Given the description of an element on the screen output the (x, y) to click on. 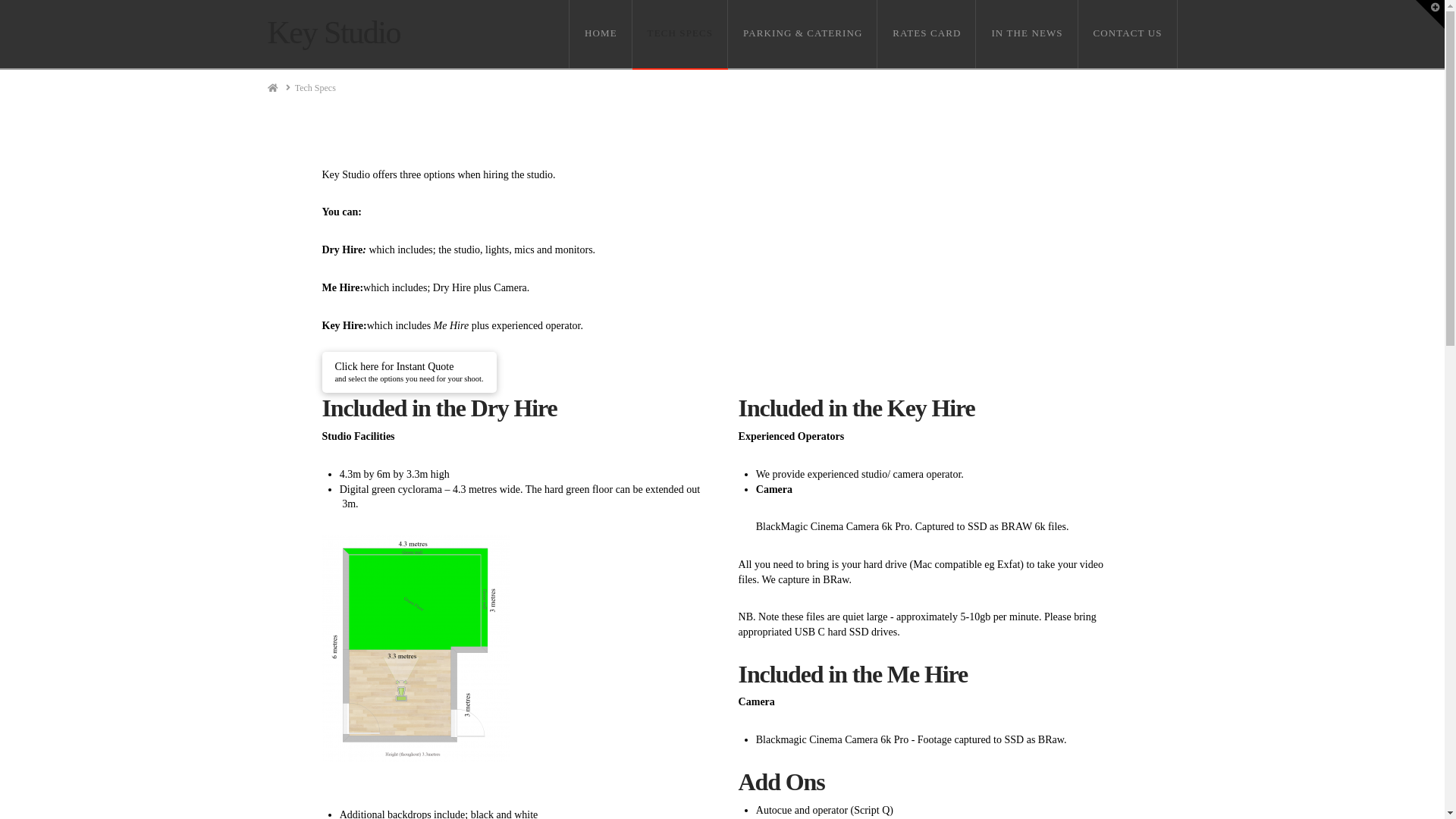
TECH SPECS Element type: text (680, 34)
RATES CARD Element type: text (926, 34)
Home Element type: text (271, 87)
IN THE NEWS Element type: text (1026, 34)
Toggle the Widgetbar Element type: text (1429, 14)
HOME Element type: text (600, 34)
Tech Specs Element type: text (314, 87)
Key Studio Element type: text (332, 32)
CONTACT US Element type: text (1127, 34)
PARKING & CATERING Element type: text (802, 34)
